Given the description of an element on the screen output the (x, y) to click on. 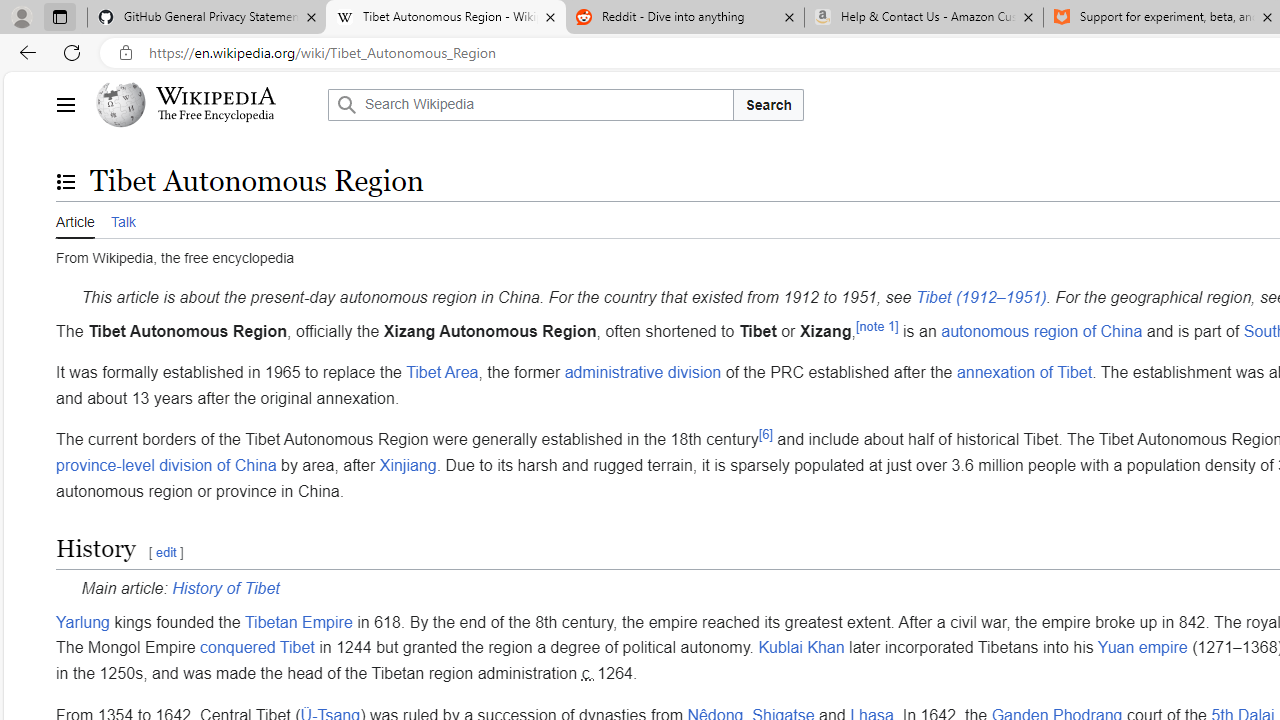
Tibet Autonomous Region - Wikipedia (445, 17)
autonomous region of China (1041, 330)
annexation of Tibet (1024, 373)
Tibet Area (441, 373)
province-level division of China (166, 465)
